Given the description of an element on the screen output the (x, y) to click on. 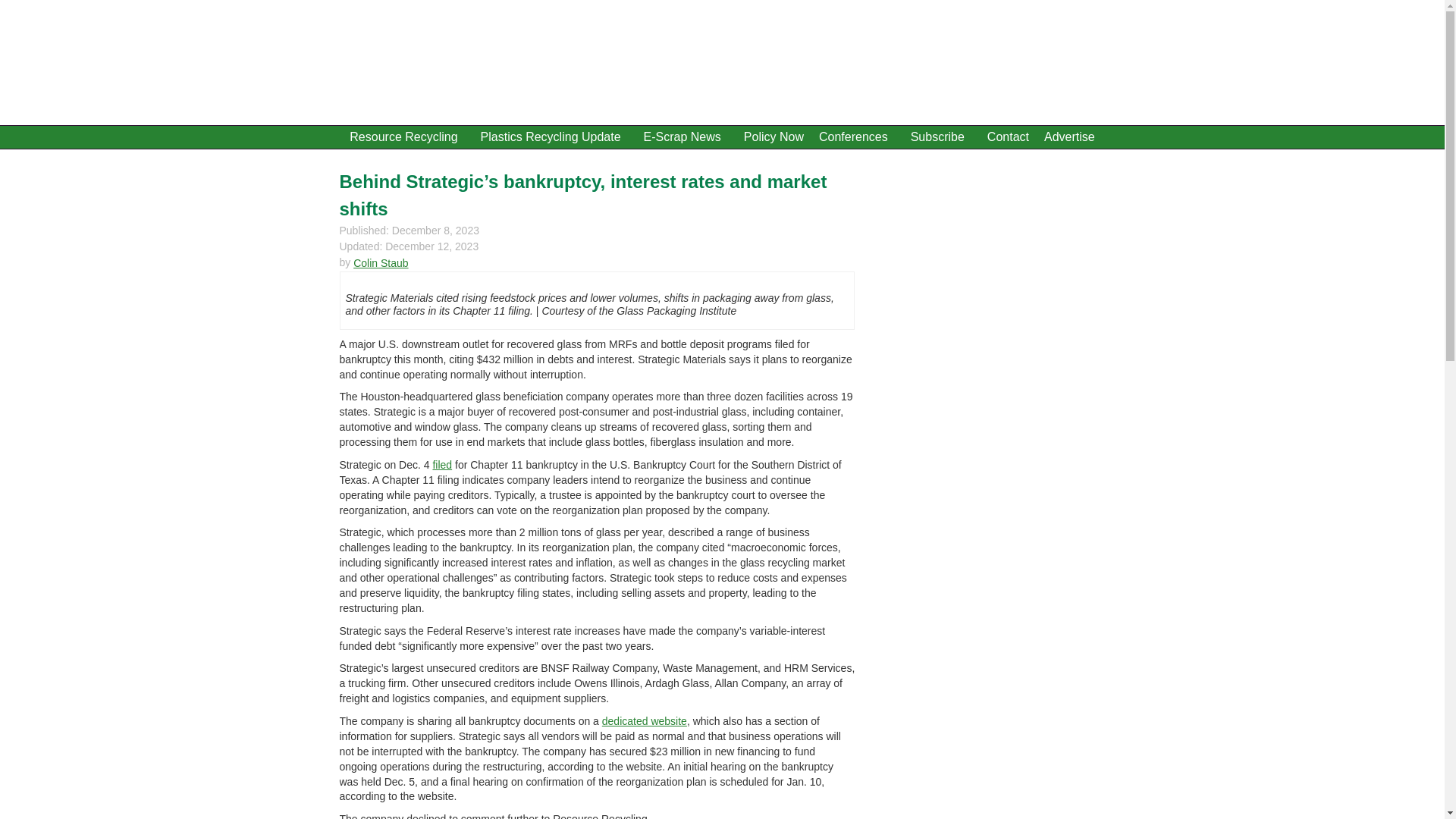
Advertise (1069, 137)
Plastics Recycling Update (554, 137)
Conferences (856, 137)
Contact (1007, 137)
E-Scrap News (686, 137)
Subscribe (940, 137)
View all posts by Colin Staub (380, 263)
Resource Recycling (406, 137)
Policy Now (773, 137)
